Given the description of an element on the screen output the (x, y) to click on. 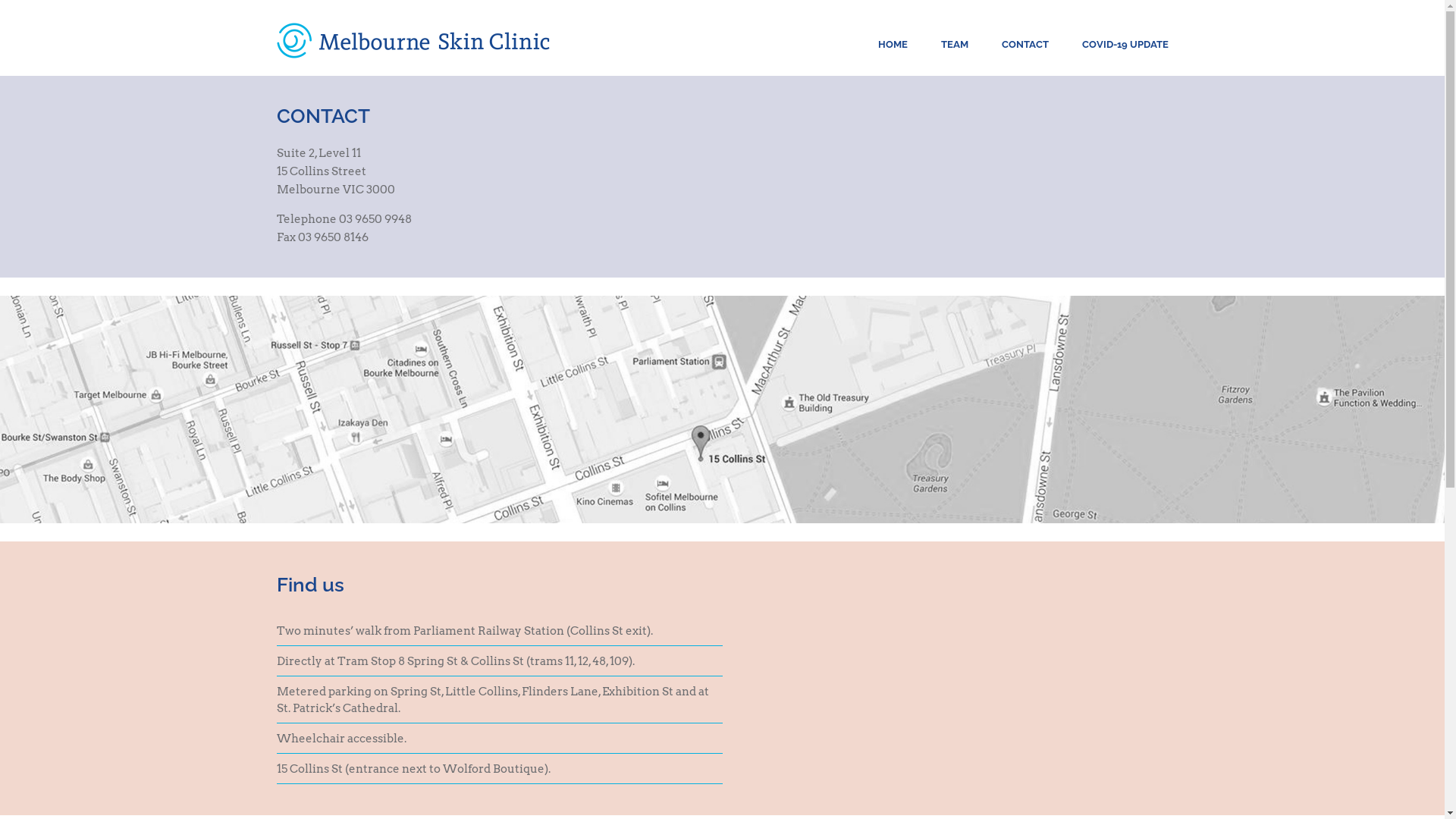
TEAM Element type: text (953, 44)
CONTACT Element type: text (1024, 44)
COVID-19 UPDATE Element type: text (1124, 44)
HOME Element type: text (892, 44)
